Given the description of an element on the screen output the (x, y) to click on. 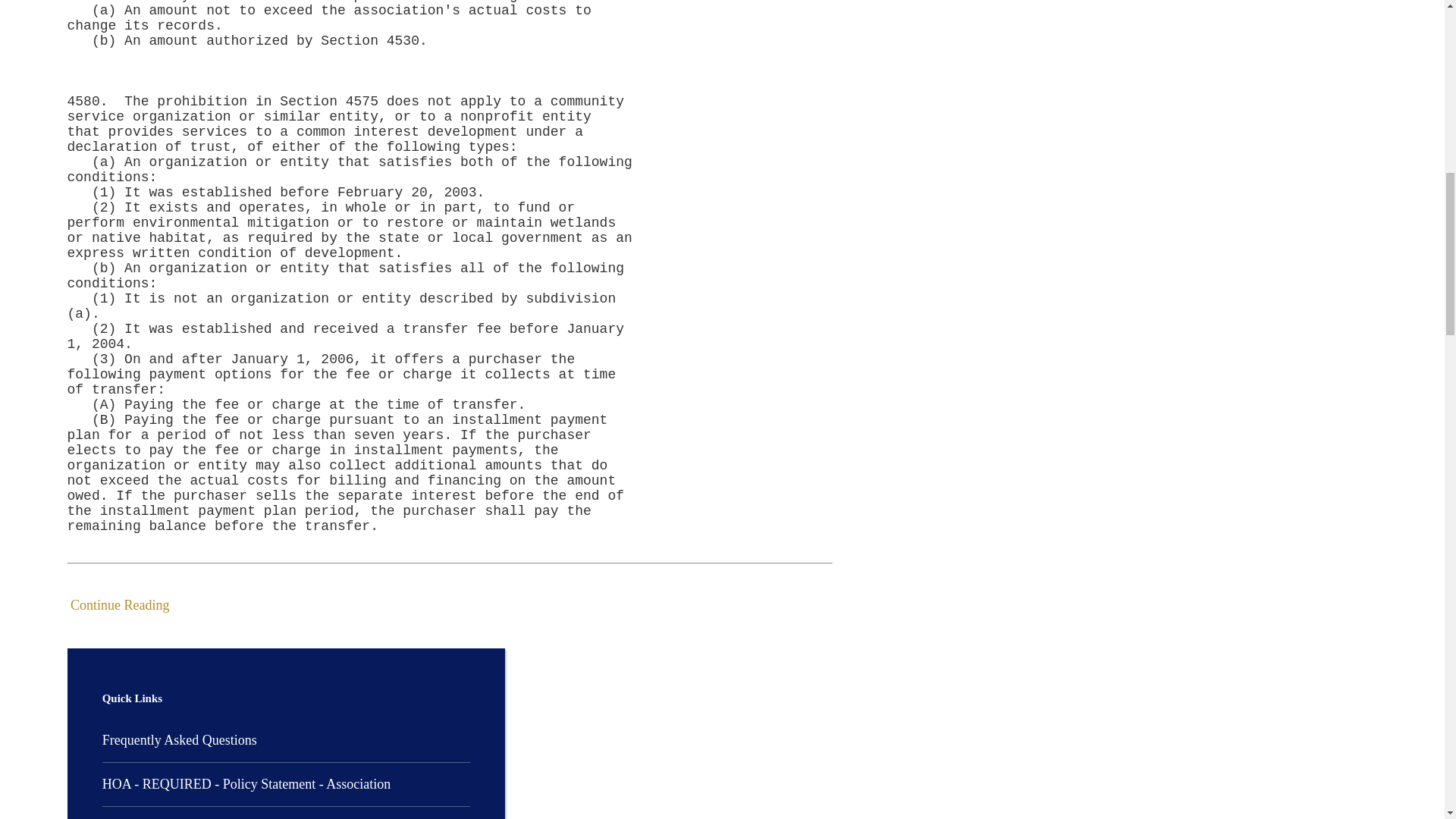
More (193, 602)
